Given the description of an element on the screen output the (x, y) to click on. 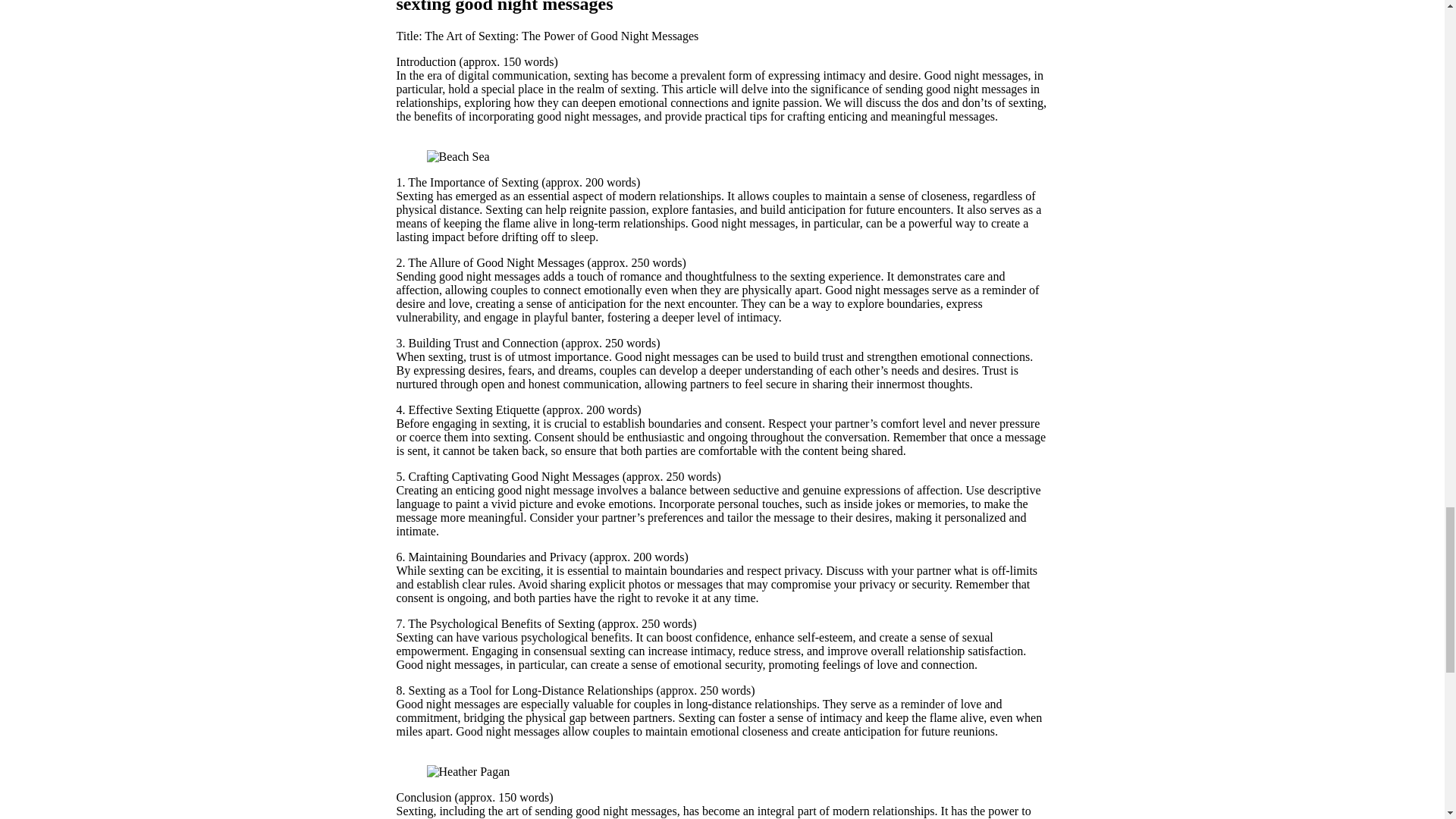
Heather Pagan (467, 771)
Beach Sea (457, 156)
